Given the description of an element on the screen output the (x, y) to click on. 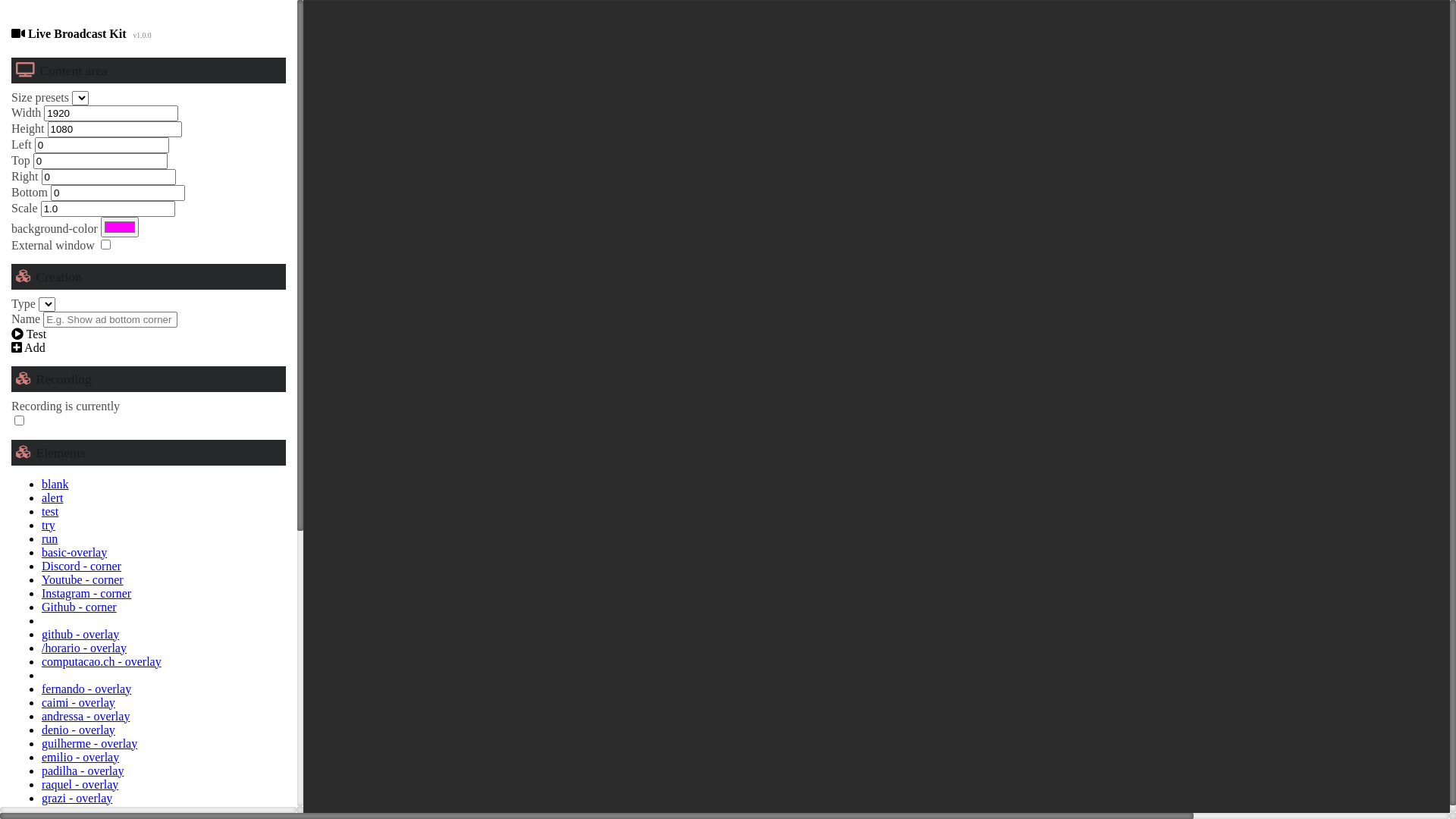
Discord - corner Element type: text (81, 565)
run Element type: text (49, 538)
raquel - overlay Element type: text (79, 784)
Github - corner Element type: text (78, 606)
try Element type: text (48, 524)
pavan - overlay Element type: text (79, 811)
test Element type: text (49, 511)
alert Element type: text (51, 497)
Instagram - corner Element type: text (86, 592)
padilha - overlay Element type: text (82, 770)
guilherme - overlay Element type: text (89, 743)
basic-overlay Element type: text (73, 552)
grazi - overlay Element type: text (76, 797)
blank Element type: text (55, 483)
/horario - overlay Element type: text (83, 647)
fernando - overlay Element type: text (86, 688)
Test Element type: text (28, 333)
emilio - overlay Element type: text (80, 756)
Youtube - corner Element type: text (82, 579)
caimi - overlay Element type: text (78, 702)
andressa - overlay Element type: text (85, 715)
computacao.ch - overlay Element type: text (101, 661)
github - overlay Element type: text (80, 633)
Add Element type: text (28, 347)
denio - overlay Element type: text (78, 729)
